Given the description of an element on the screen output the (x, y) to click on. 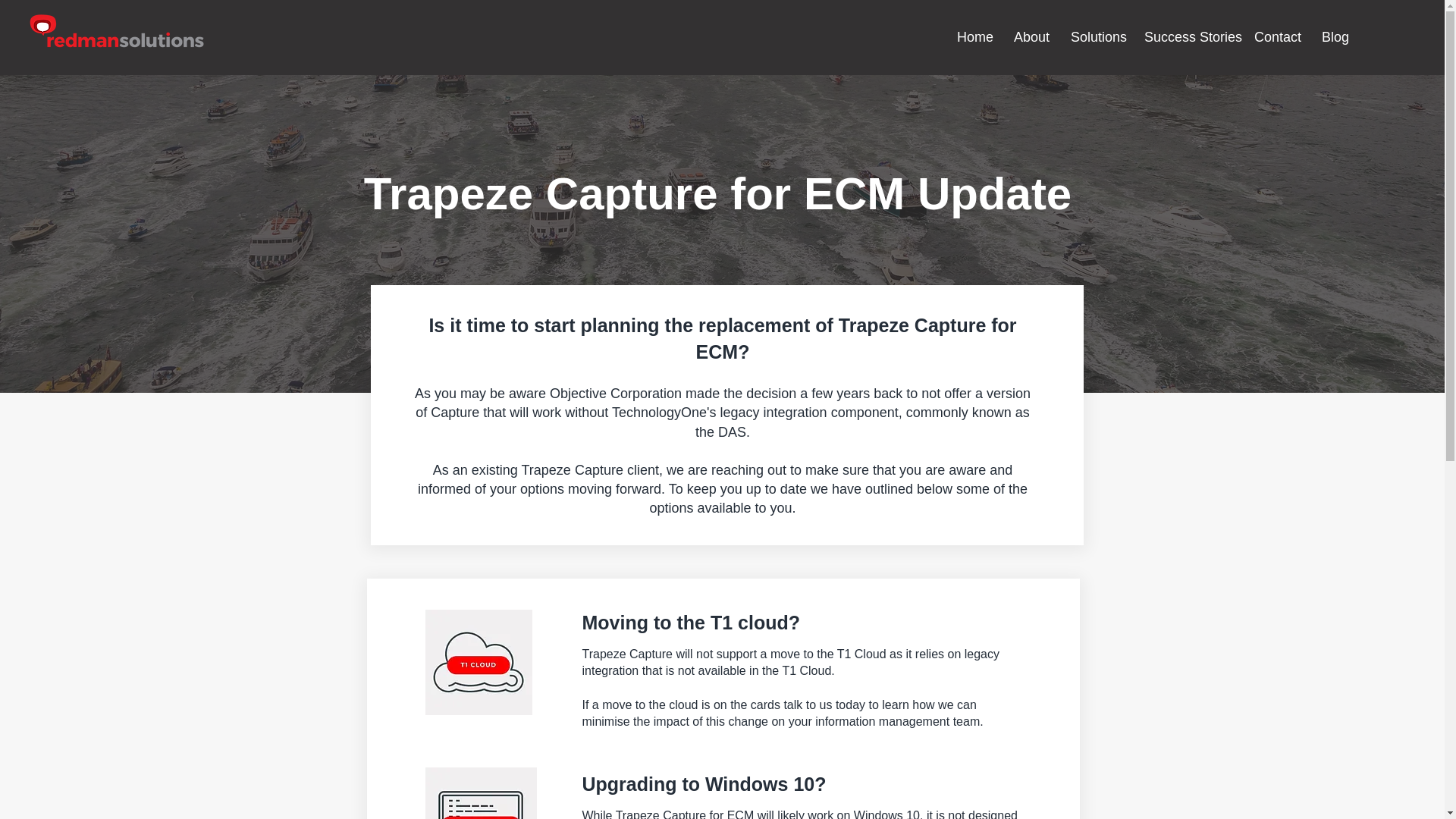
Success Stories (1187, 36)
About (1031, 36)
Home (973, 36)
Solutions (1095, 36)
Blog (1334, 36)
Contact (1276, 36)
